Given the description of an element on the screen output the (x, y) to click on. 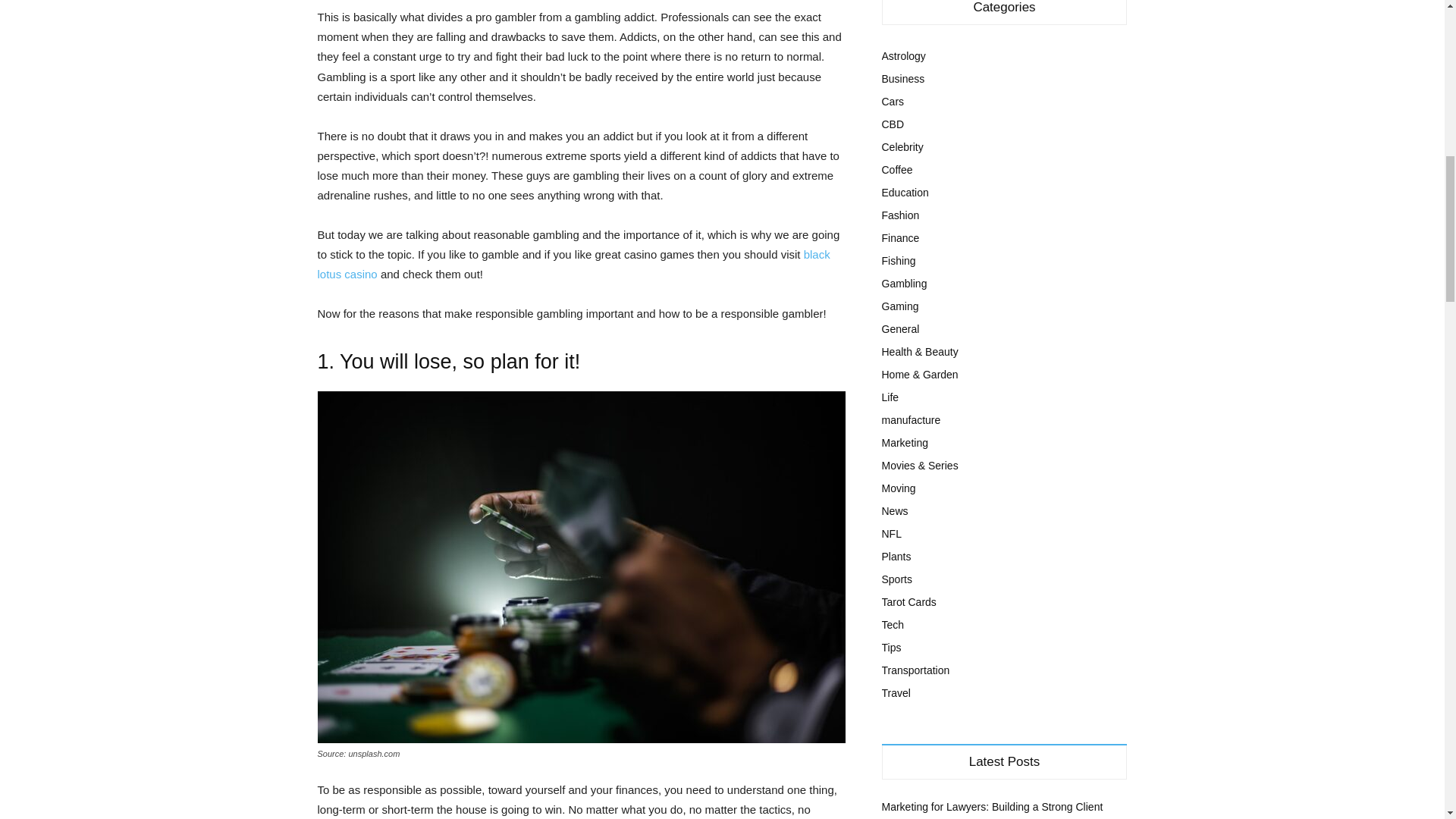
black lotus casino (573, 264)
